Given the description of an element on the screen output the (x, y) to click on. 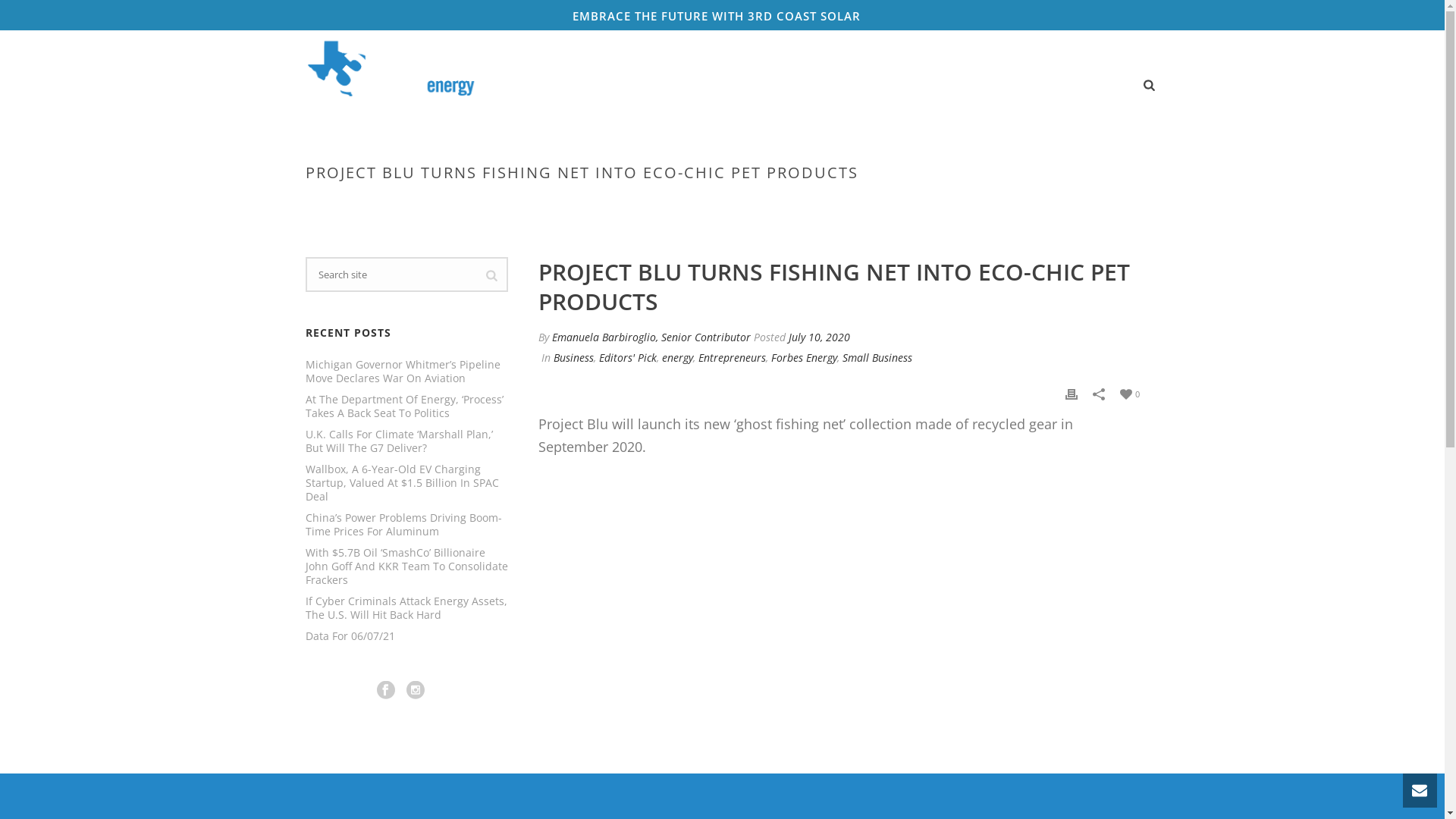
ABOUT Element type: text (1028, 86)
Editors' Pick Element type: text (627, 357)
Emanuela Barbiroglio, Senior Contributor Element type: text (651, 336)
CAREERS Element type: text (875, 86)
RESOURCES Element type: text (953, 86)
0 Element type: text (1129, 392)
EMBRACE THE FUTURE WITH 3RD COAST SOLAR Element type: text (721, 15)
Data For 06/07/21 Element type: text (349, 636)
HOME Element type: text (531, 86)
LOWER MY RATE Element type: text (687, 86)
Business Element type: text (573, 357)
energy Element type: text (677, 357)
CONNECT WITH US instagram Element type: hover (415, 690)
SERVICES Element type: text (597, 86)
CONNECT WITH US facebook Element type: hover (385, 690)
Small Business Element type: text (877, 357)
MARKET NEWS Element type: text (790, 86)
BUSINESS Element type: text (809, 204)
CONTACT Element type: text (1097, 86)
Forbes Energy Element type: text (804, 357)
Entrepreneurs Element type: text (731, 357)
July 10, 2020 Element type: text (819, 336)
Print Element type: hover (1070, 392)
HOME Element type: text (763, 204)
